Given the description of an element on the screen output the (x, y) to click on. 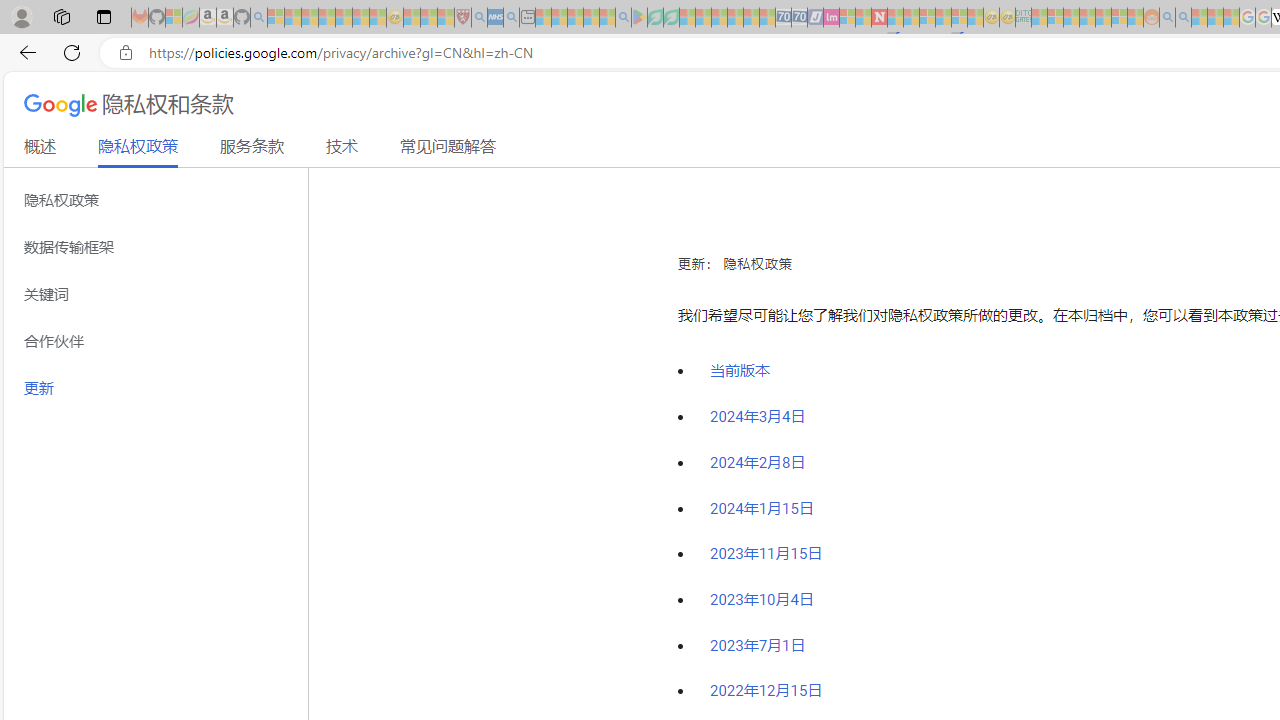
New Report Confirms 2023 Was Record Hot | Watch - Sleeping (343, 17)
Cheap Car Rentals - Save70.com - Sleeping (783, 17)
